Given the description of an element on the screen output the (x, y) to click on. 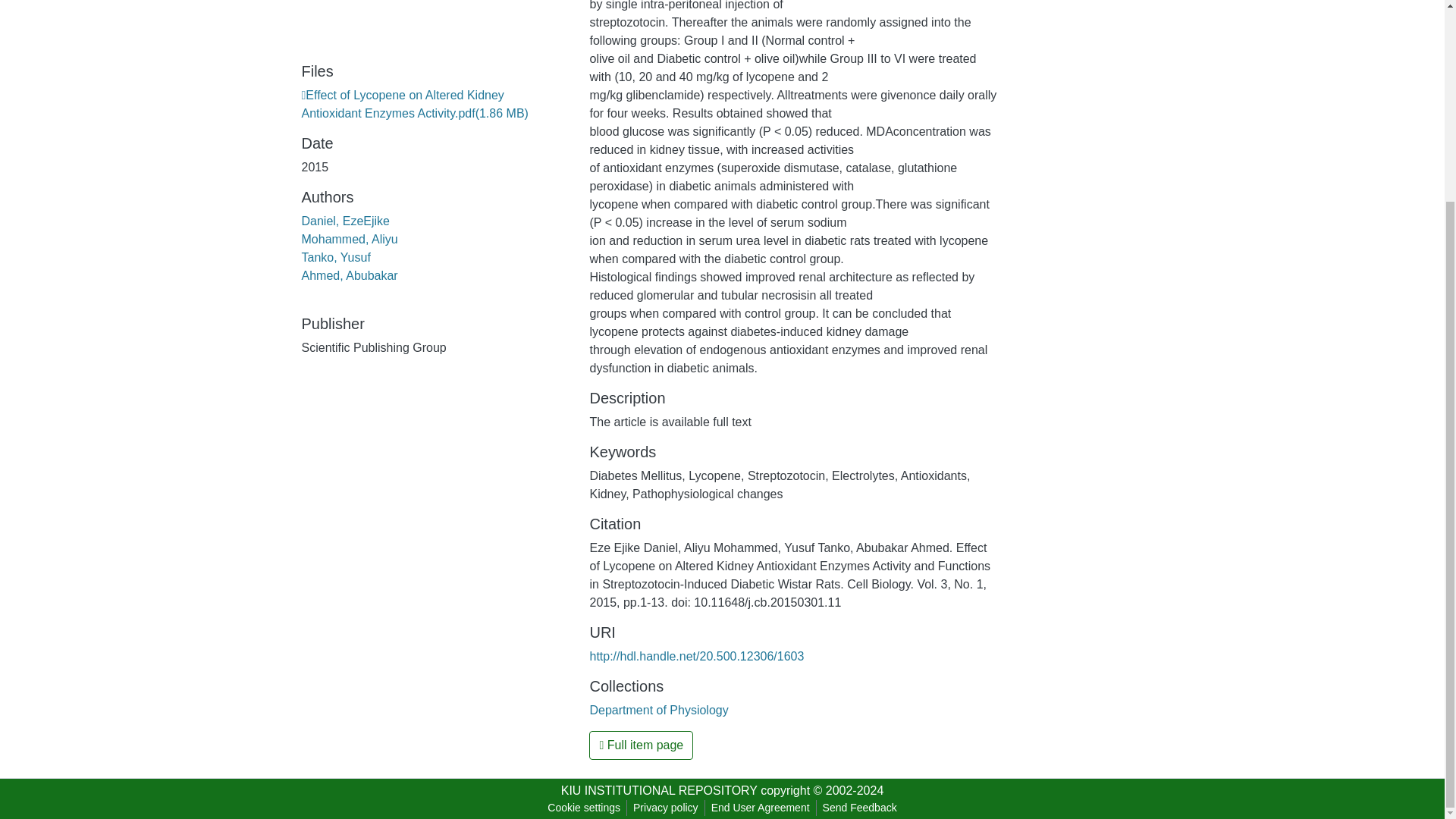
Department of Physiology (658, 709)
Tanko, Yusuf (336, 256)
Privacy policy (665, 807)
Full item page (641, 745)
Ahmed, Abubakar (349, 275)
Send Feedback (859, 807)
KIU INSTITUTIONAL REPOSITORY (658, 789)
Daniel, EzeEjike (345, 220)
Cookie settings (583, 807)
End User Agreement (759, 807)
